Given the description of an element on the screen output the (x, y) to click on. 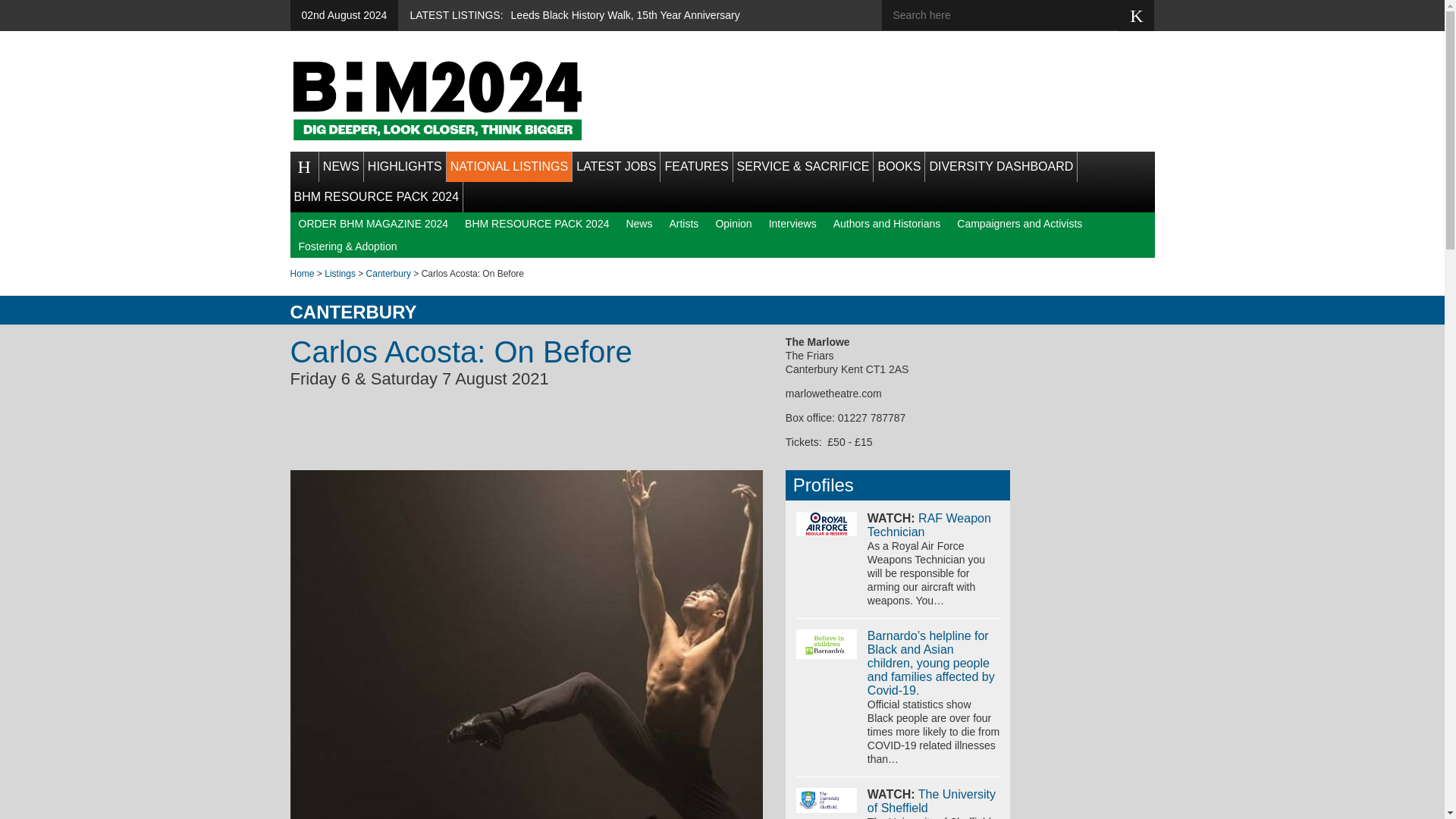
Black History Month 2024: Black History Month 2024 (437, 100)
RAF Weapon Technician (929, 524)
The University of Sheffield (931, 800)
Leeds Black History Walk, 15th Year Anniversary (625, 15)
RAF Weapon Technician (826, 523)
The University of Sheffield (826, 800)
Search here (1010, 15)
